Given the description of an element on the screen output the (x, y) to click on. 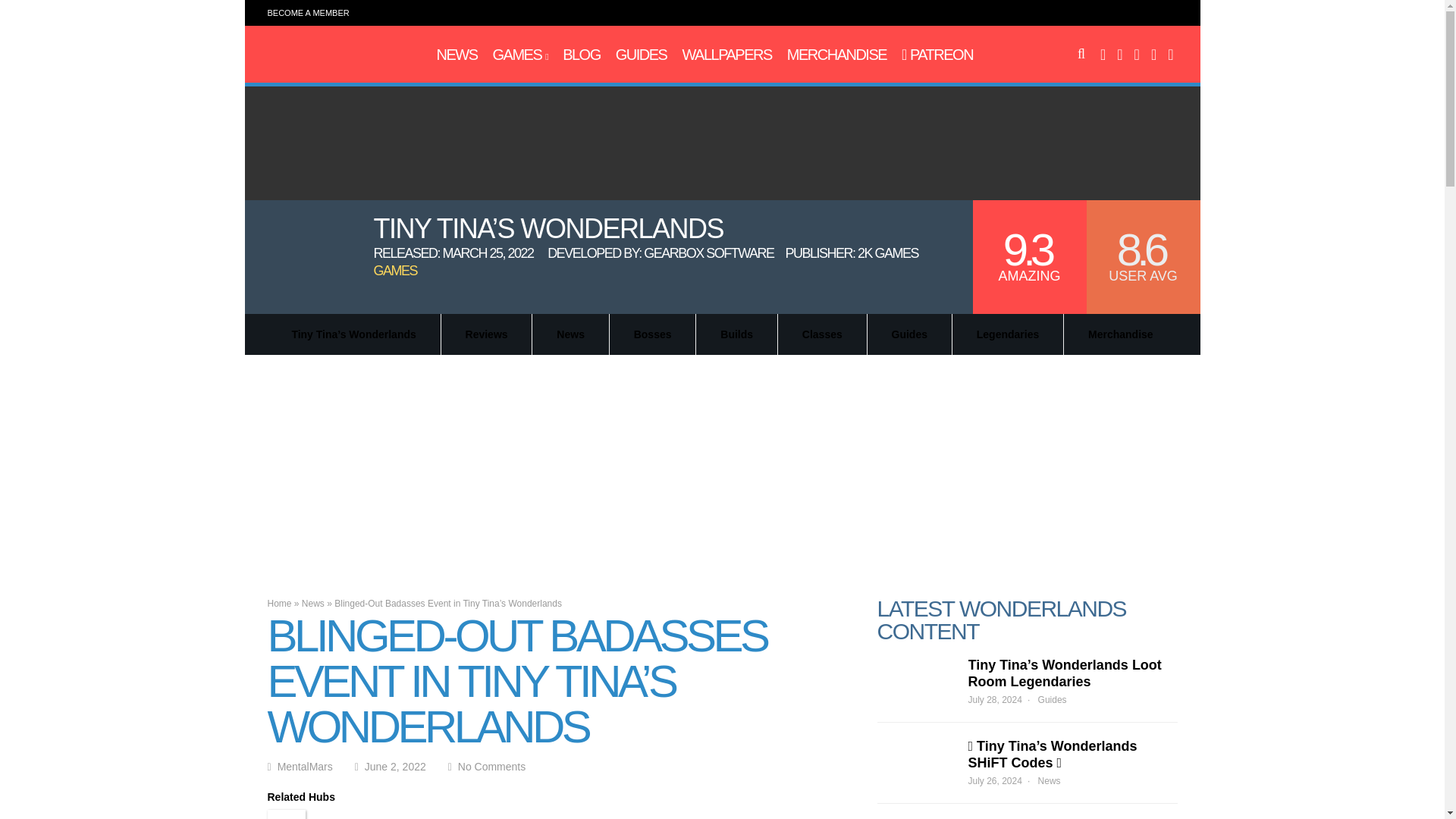
Blog (580, 54)
Game Wallpapers (726, 54)
GAMES (520, 54)
Merchandise (836, 54)
MentalMars (331, 62)
NEWS (456, 54)
MERCHANDISE (836, 54)
BECOME A MEMBER (307, 13)
News (456, 54)
WALLPAPERS (726, 54)
GUIDES (640, 54)
PATREON (936, 54)
BLOG (580, 54)
